Given the description of an element on the screen output the (x, y) to click on. 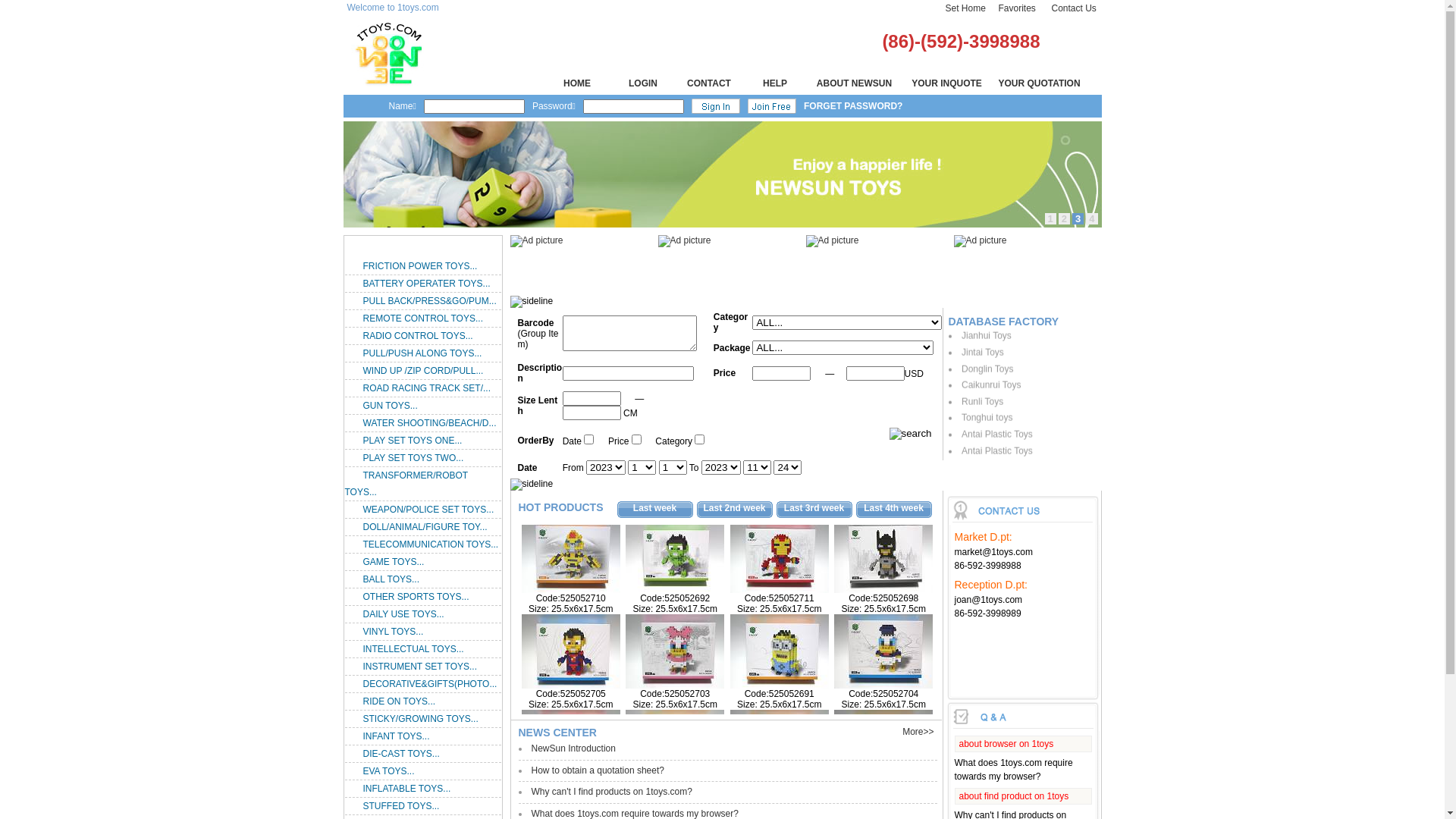
GAME TOYS... Element type: text (392, 561)
REMOTE CONTROL TOYS... Element type: text (422, 318)
WIND UP /ZIP CORD/PULL... Element type: text (422, 370)
How to obtain a quotation sheet? Element type: text (596, 770)
NewSun Introduction Element type: text (572, 748)
GUN TOYS... Element type: text (389, 405)
RADIO CONTROL TOYS... Element type: text (417, 335)
BALL TOYS... Element type: text (390, 579)
Why can't I find products on 1toys.com? Element type: text (610, 791)
YOUR QUOTATION Element type: text (1038, 83)
INSTRUMENT SET TOYS... Element type: text (419, 666)
OTHER SPORTS TOYS... Element type: text (415, 596)
Set Home Element type: text (964, 8)
DOLL/ANIMAL/FIGURE TOY... Element type: text (424, 526)
about find product on 1toys Element type: text (1013, 795)
EVA TOYS... Element type: text (388, 770)
FRICTION POWER TOYS... Element type: text (419, 265)
4 Element type: text (1091, 218)
ROAD RACING TRACK SET/... Element type: text (425, 387)
INFANT TOYS... Element type: text (395, 736)
Last 4th week Element type: text (893, 507)
INFLATABLE TOYS... Element type: text (406, 788)
Welcome to 1toys.com Element type: text (393, 7)
INTELLECTUAL TOYS... Element type: text (412, 648)
2 Element type: text (1064, 218)
1 Element type: text (1050, 218)
DECORATIVE&GIFTS(PHOTO... Element type: text (429, 683)
TRANSFORMER/ROBOT TOYS... Element type: text (405, 483)
HOME Element type: text (576, 83)
Last 2nd week Element type: text (733, 507)
CONTACT Element type: text (709, 83)
BATTERY OPERATER TOYS... Element type: text (425, 283)
VINYL TOYS... Element type: text (392, 631)
STICKY/GROWING TOYS... Element type: text (419, 718)
Contact Us Element type: text (1073, 8)
DIE-CAST TOYS... Element type: text (400, 753)
WEAPON/POLICE SET TOYS... Element type: text (427, 509)
PULL BACK/PRESS&GO/PUM... Element type: text (428, 300)
Favorites Element type: text (1016, 8)
3 Element type: text (1077, 218)
WATER SHOOTING/BEACH/D... Element type: text (428, 422)
TELECOMMUNICATION TOYS... Element type: text (430, 544)
More>> Element type: text (917, 731)
about browser on 1toys Element type: text (1005, 743)
LOGIN Element type: text (642, 83)
Last 3rd week Element type: text (814, 507)
RIDE ON TOYS... Element type: text (398, 701)
PLAY SET TOYS ONE... Element type: text (411, 440)
FORGET PASSWORD? Element type: text (852, 105)
STUFFED TOYS... Element type: text (400, 805)
Last week Element type: text (654, 507)
ABOUT NEWSUN Element type: text (853, 83)
HELP Element type: text (774, 83)
PLAY SET TOYS TWO... Element type: text (412, 457)
YOUR INQUOTE Element type: text (946, 83)
DAILY USE TOYS... Element type: text (402, 613)
PULL/PUSH ALONG TOYS... Element type: text (421, 353)
